Given the description of an element on the screen output the (x, y) to click on. 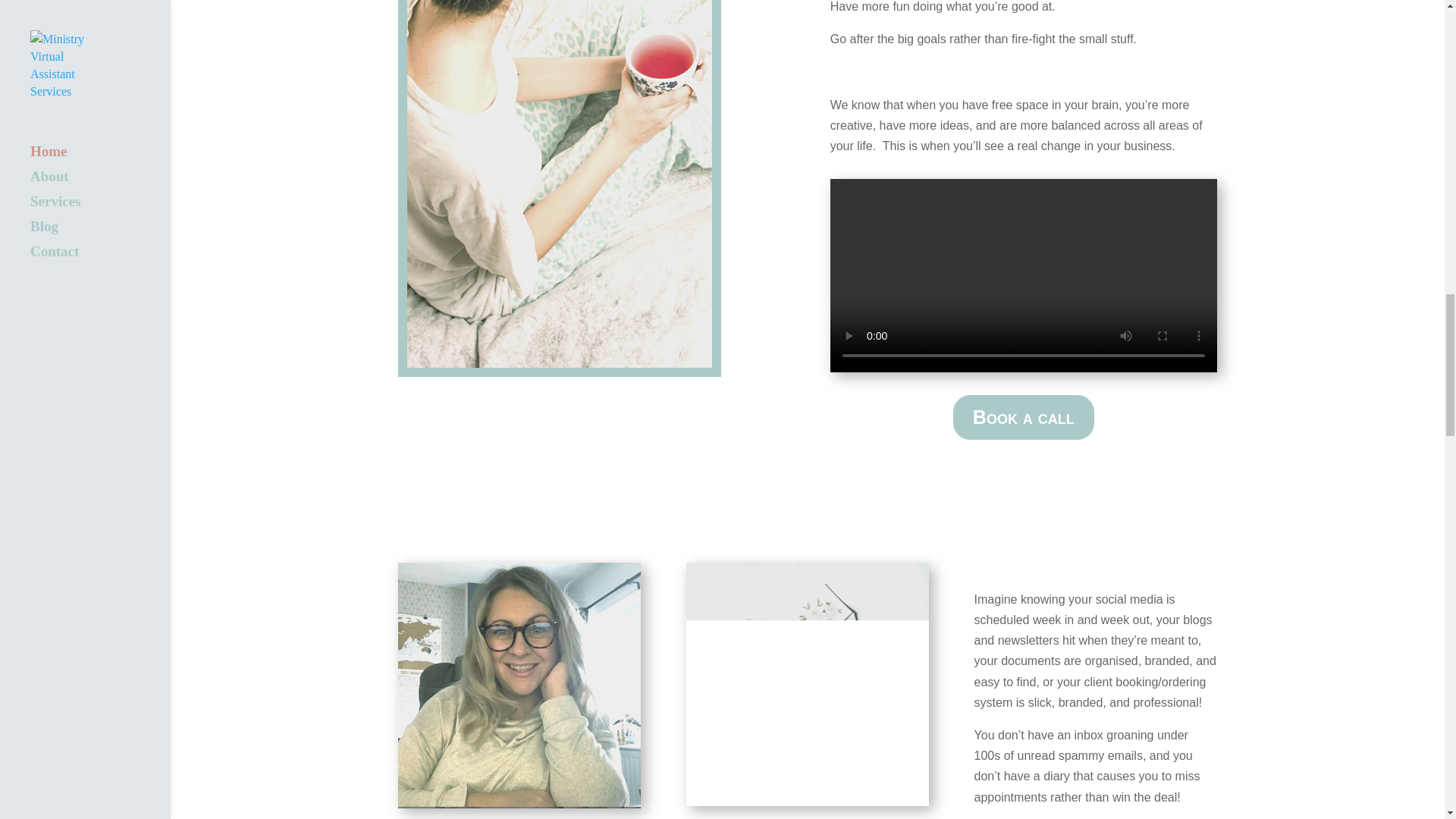
Book a call (1023, 417)
Capture (518, 685)
MVA Website Portrtait images (559, 183)
